Given the description of an element on the screen output the (x, y) to click on. 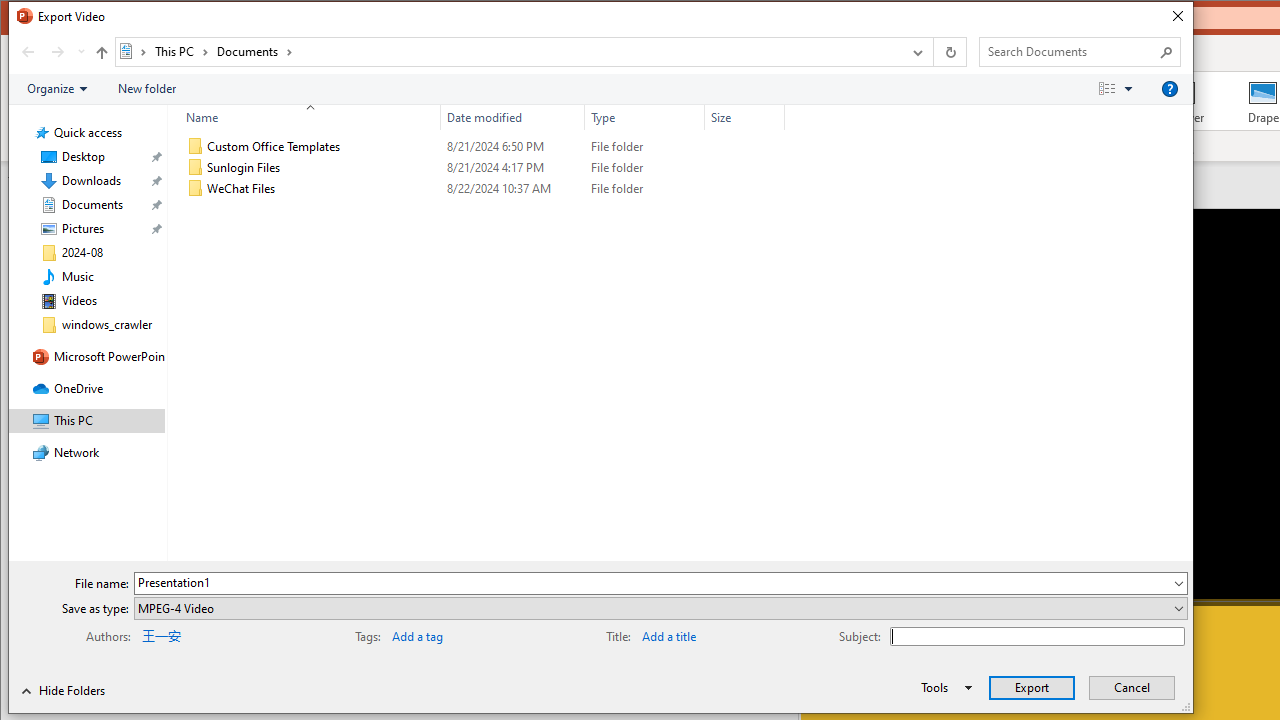
Forward (Alt + Right Arrow) (57, 51)
Sunlogin Files (481, 167)
File name: (651, 583)
Views (1120, 89)
Tools (943, 687)
Authors (205, 634)
Search Box (1069, 51)
This PC (181, 51)
Type (644, 188)
New folder (146, 89)
&Help (1169, 89)
Up to "This PC" (Alt + Up Arrow) (101, 52)
Custom Office Templates (481, 146)
